Given the description of an element on the screen output the (x, y) to click on. 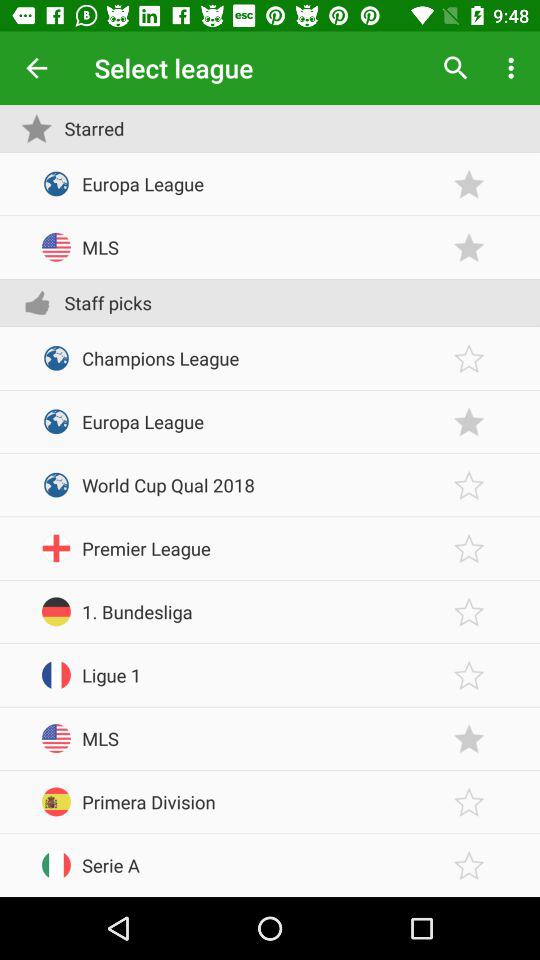
favorite the serie a league (469, 865)
